Given the description of an element on the screen output the (x, y) to click on. 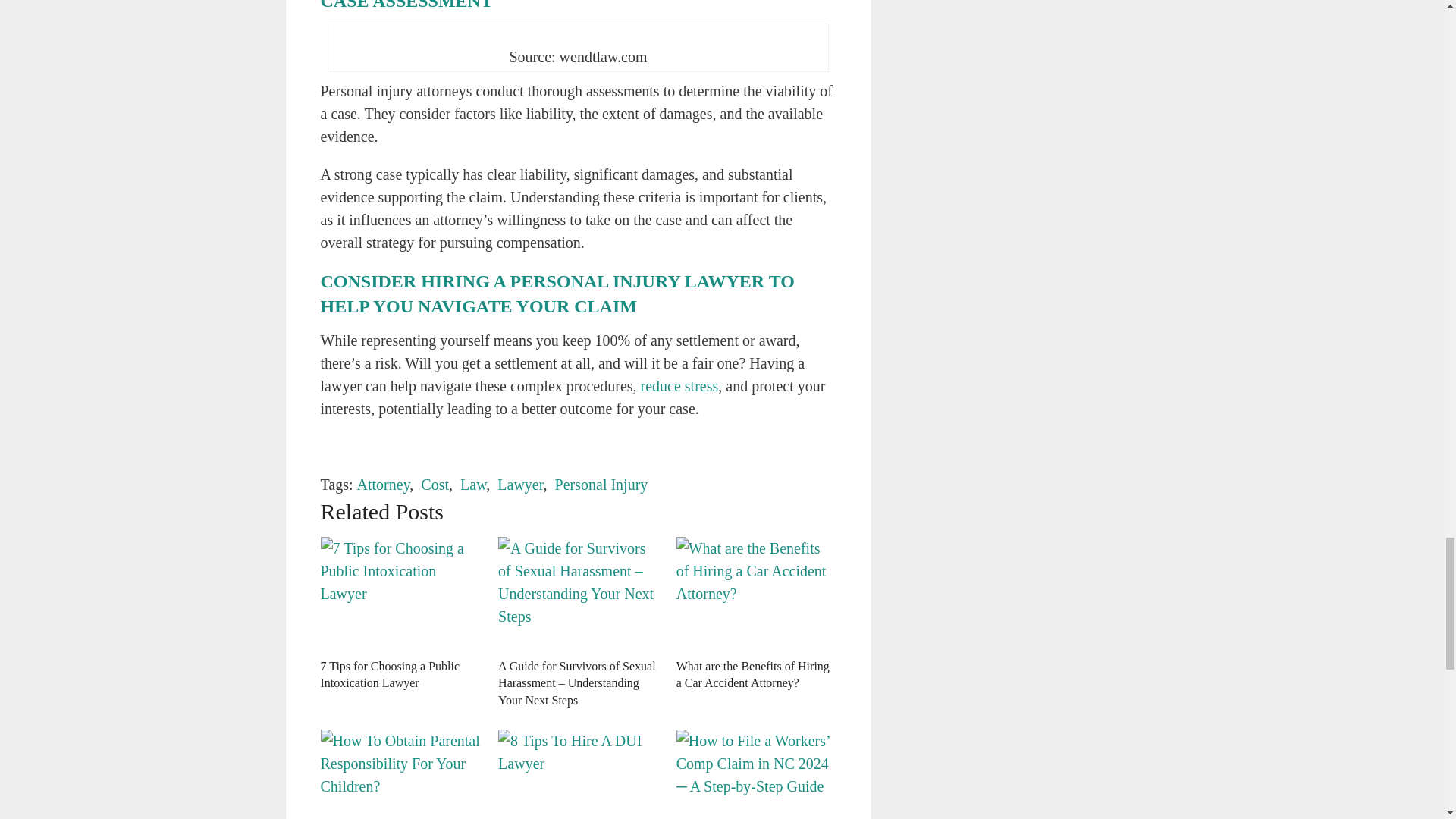
Lawyer (520, 484)
7 Tips for Choosing a Public Intoxication Lawyer (390, 674)
8 Tips To Hire A DUI Lawyer (577, 774)
What are the Benefits of Hiring a Car Accident Attorney? (753, 674)
Cost (434, 484)
7 Tips for Choosing a Public Intoxication Lawyer (400, 593)
7 Tips for Choosing a Public Intoxication Lawyer (390, 674)
What are the Benefits of Hiring a Car Accident Attorney? (756, 593)
reduce stress (679, 385)
How To Obtain Parental Responsibility For Your Children? (400, 774)
